Given the description of an element on the screen output the (x, y) to click on. 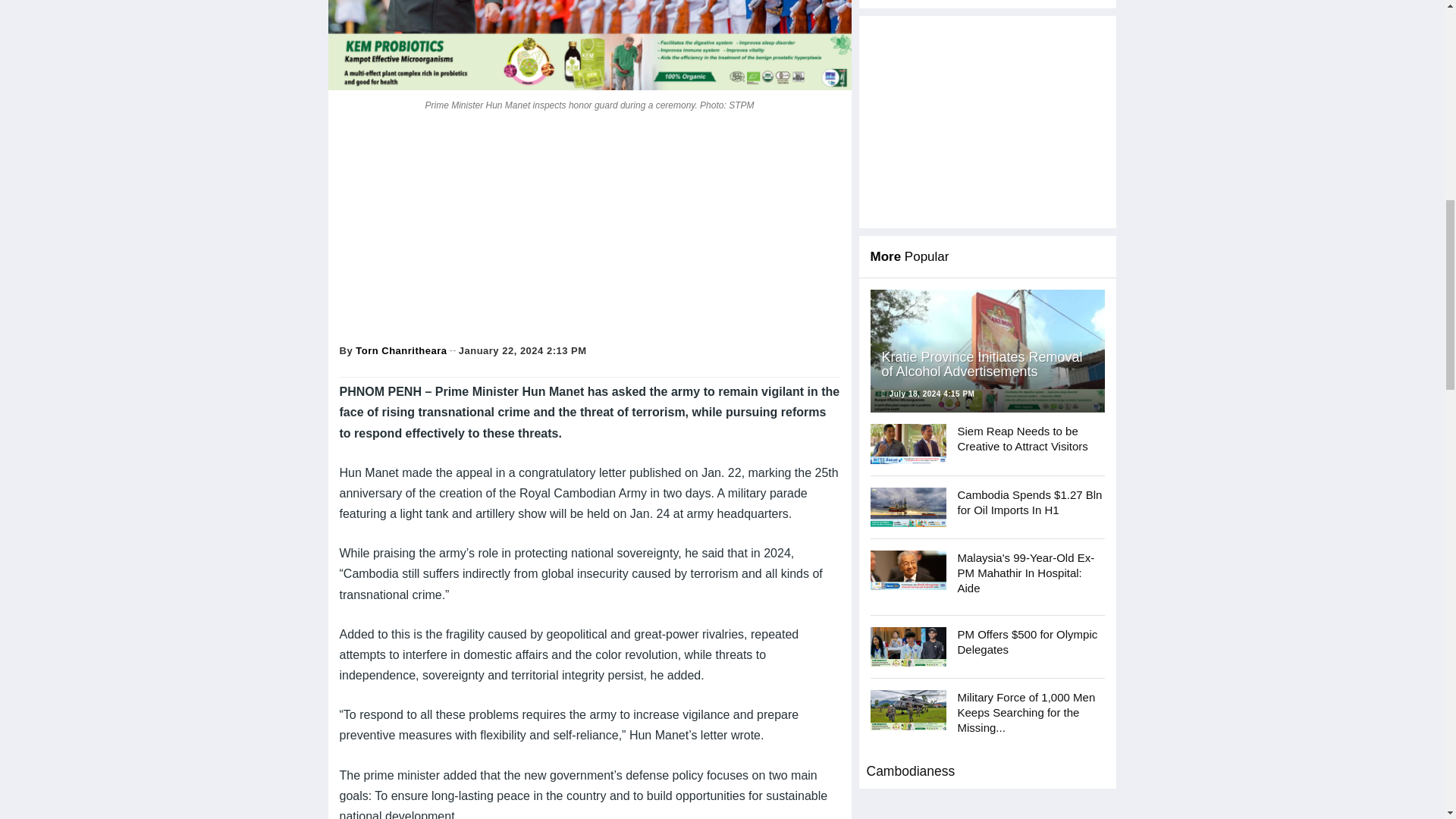
Malaysia's 99-Year-Old Ex-PM Mahathir In Hospital: Aide (908, 569)
Kratie Province Initiates Removal of Alcohol Advertisements (987, 350)
Siem Reap Needs to be Creative to Attract Visitors (908, 443)
Torn Chanritheara (400, 350)
